Given the description of an element on the screen output the (x, y) to click on. 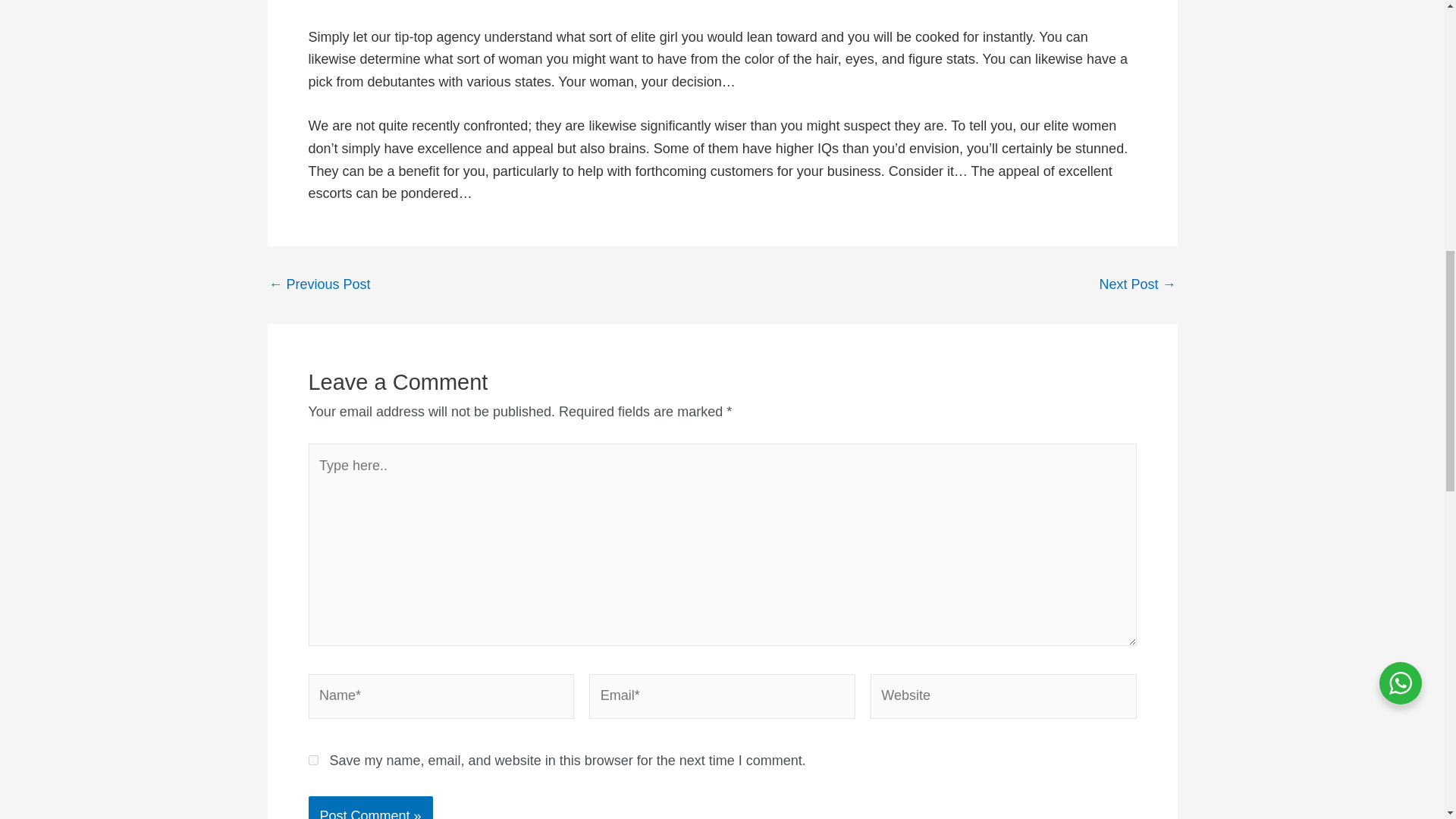
Bavdhan VIP Escorts Offers Excellent Experience (318, 284)
Escorts in Kondhwa Offer Anything (1136, 284)
yes (312, 759)
